Given the description of an element on the screen output the (x, y) to click on. 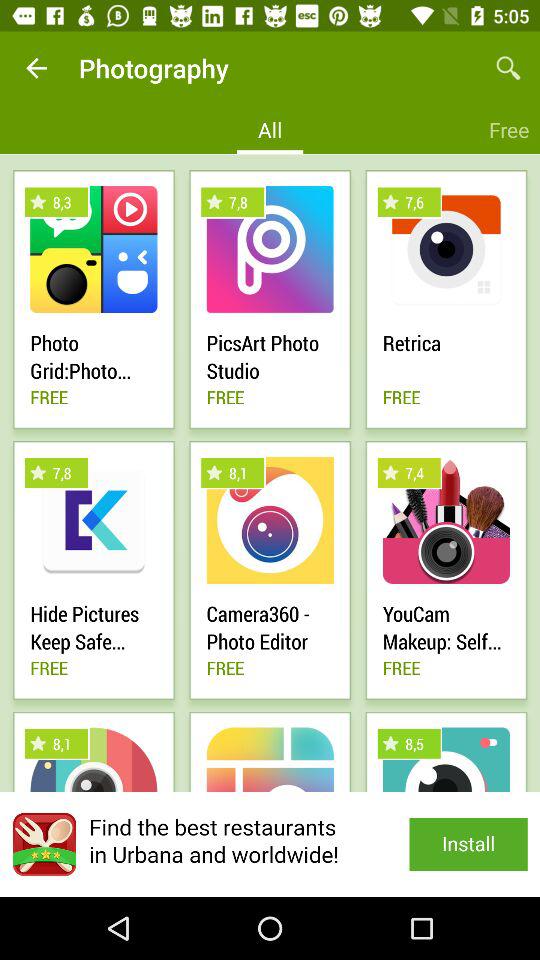
install app (270, 844)
